Given the description of an element on the screen output the (x, y) to click on. 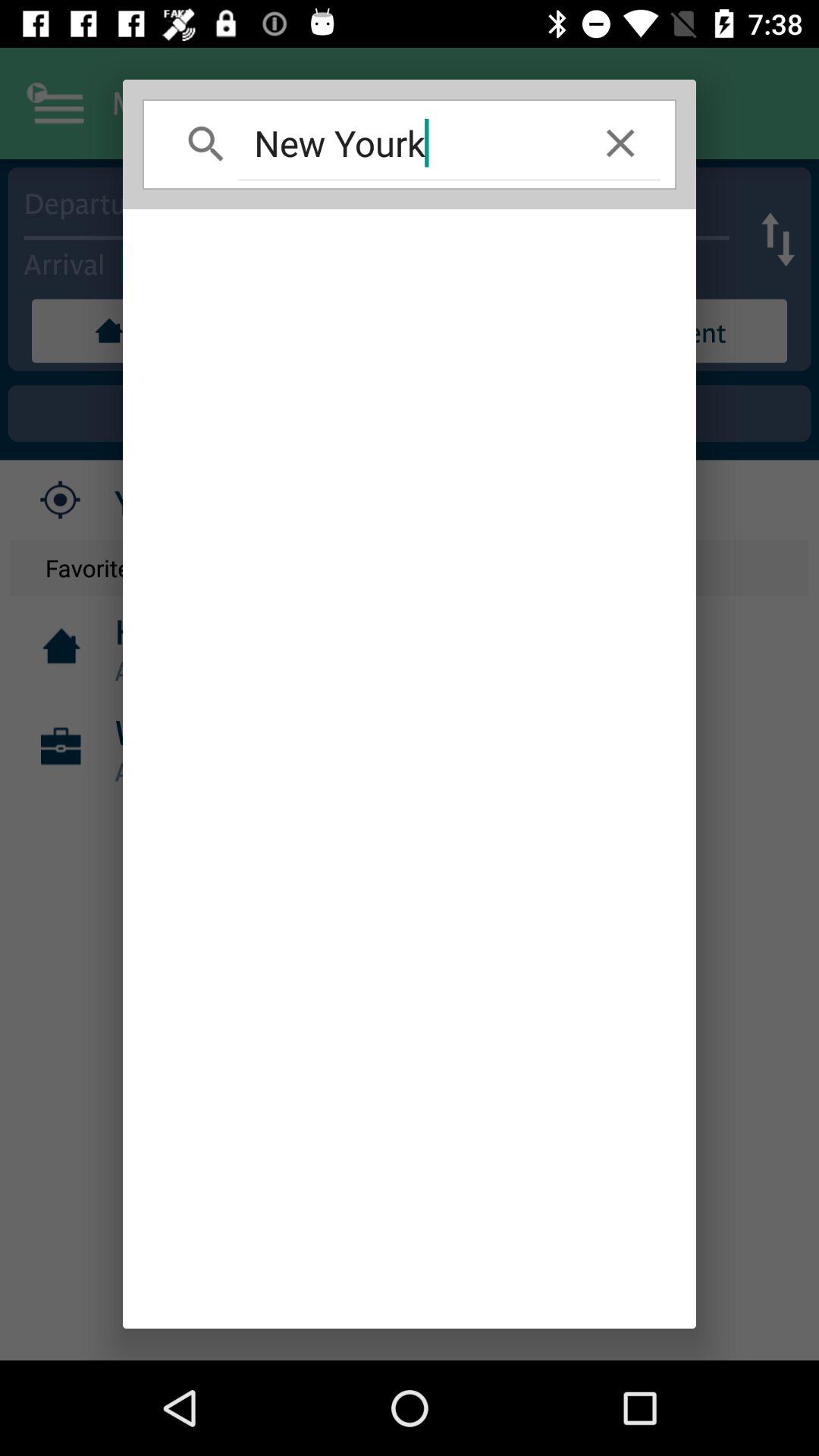
press item at the center (409, 768)
